Given the description of an element on the screen output the (x, y) to click on. 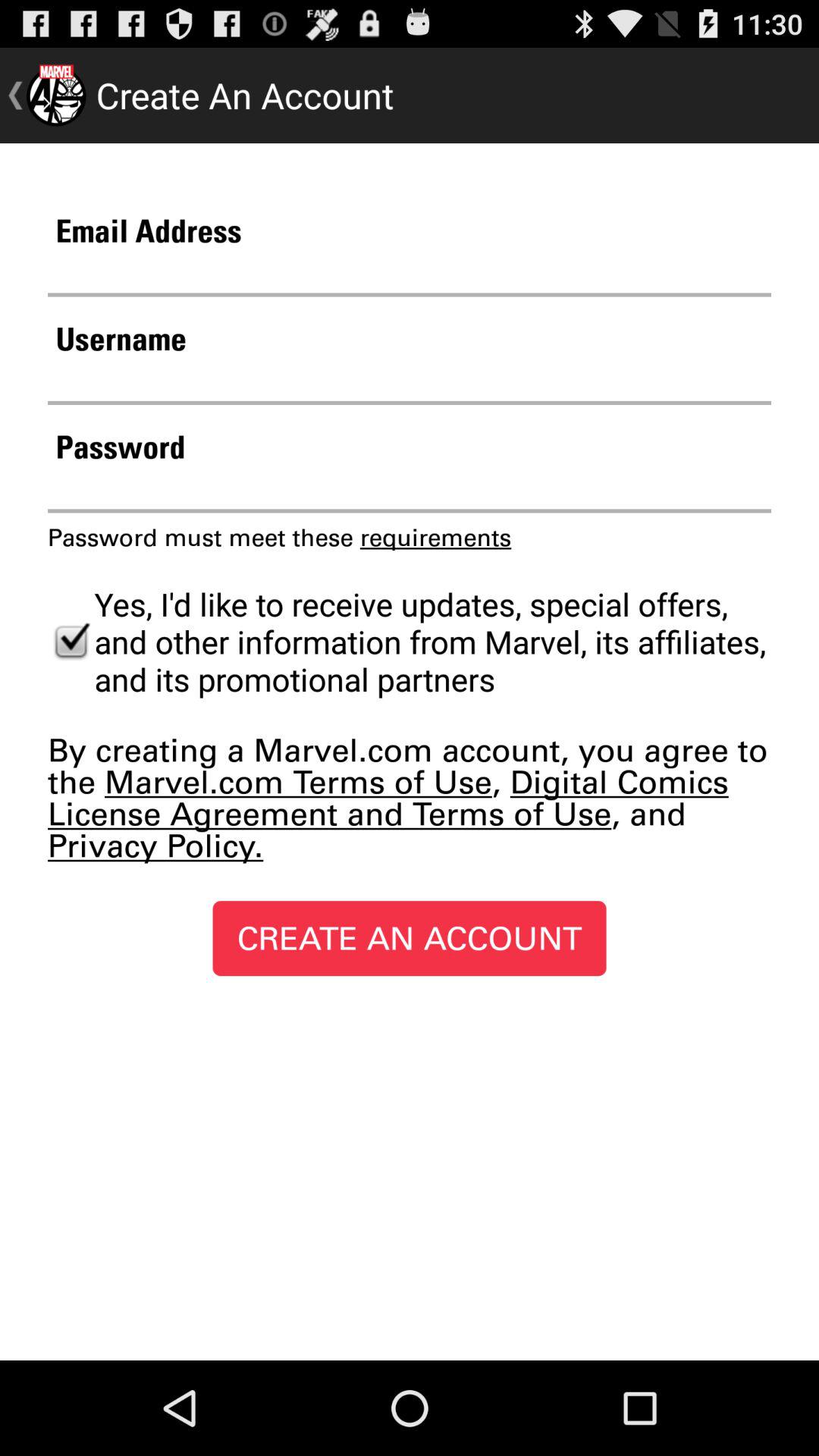
enter the username for creating an account (409, 381)
